Given the description of an element on the screen output the (x, y) to click on. 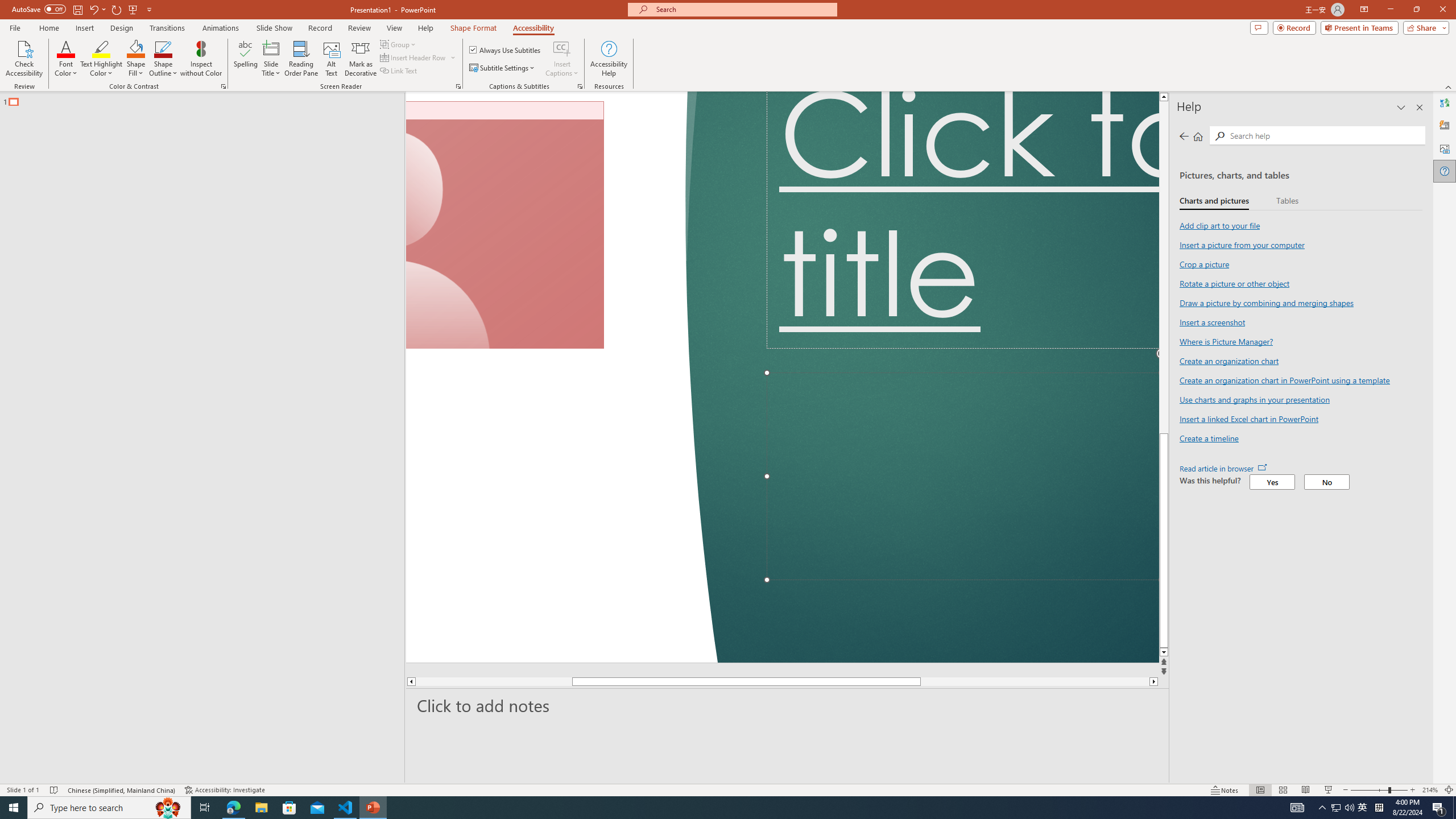
Insert a screenshot (1211, 321)
Insert Header Row (413, 56)
Reading Order Pane (301, 58)
